Given the description of an element on the screen output the (x, y) to click on. 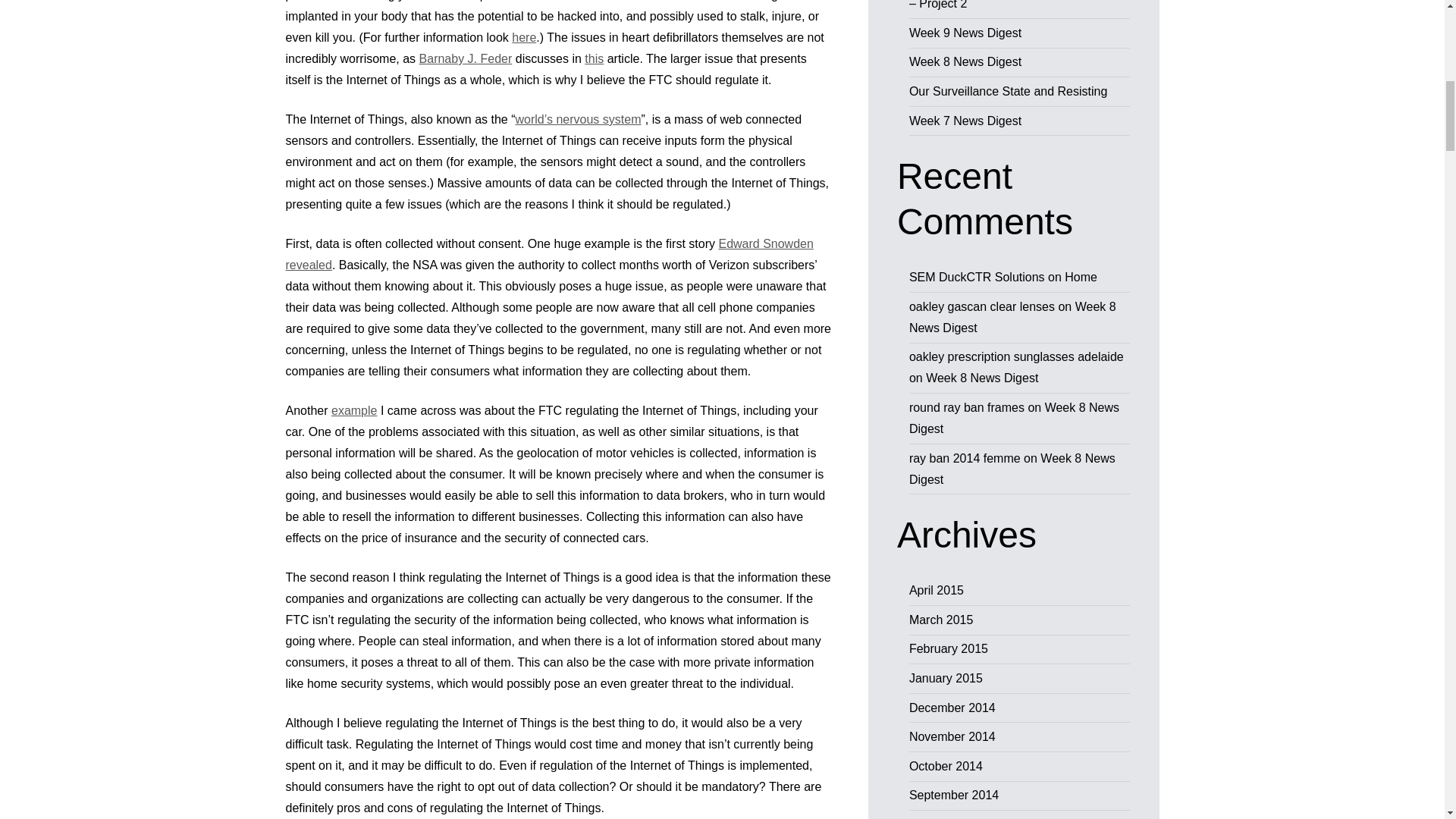
Edward Snowden (764, 243)
here (523, 37)
example (354, 410)
this (594, 58)
revealed (308, 264)
Barnaby J. Feder (465, 58)
